Given the description of an element on the screen output the (x, y) to click on. 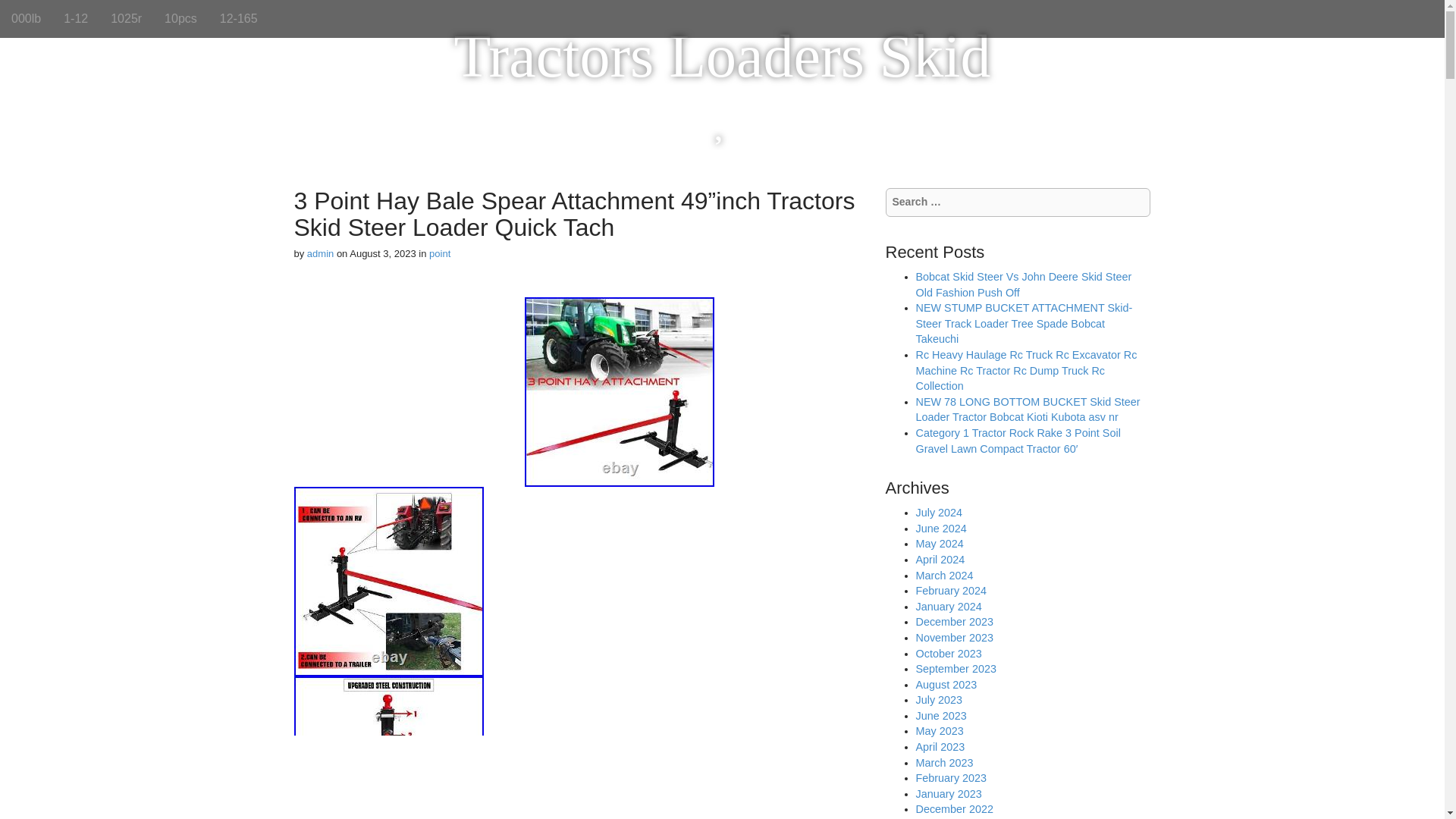
12-165 (238, 18)
1025r (125, 18)
point (439, 253)
July 2024 (938, 512)
April 2024 (940, 559)
1-12 (75, 18)
admin (320, 253)
August 3, 2023 (381, 253)
May 2024 (939, 543)
